Given the description of an element on the screen output the (x, y) to click on. 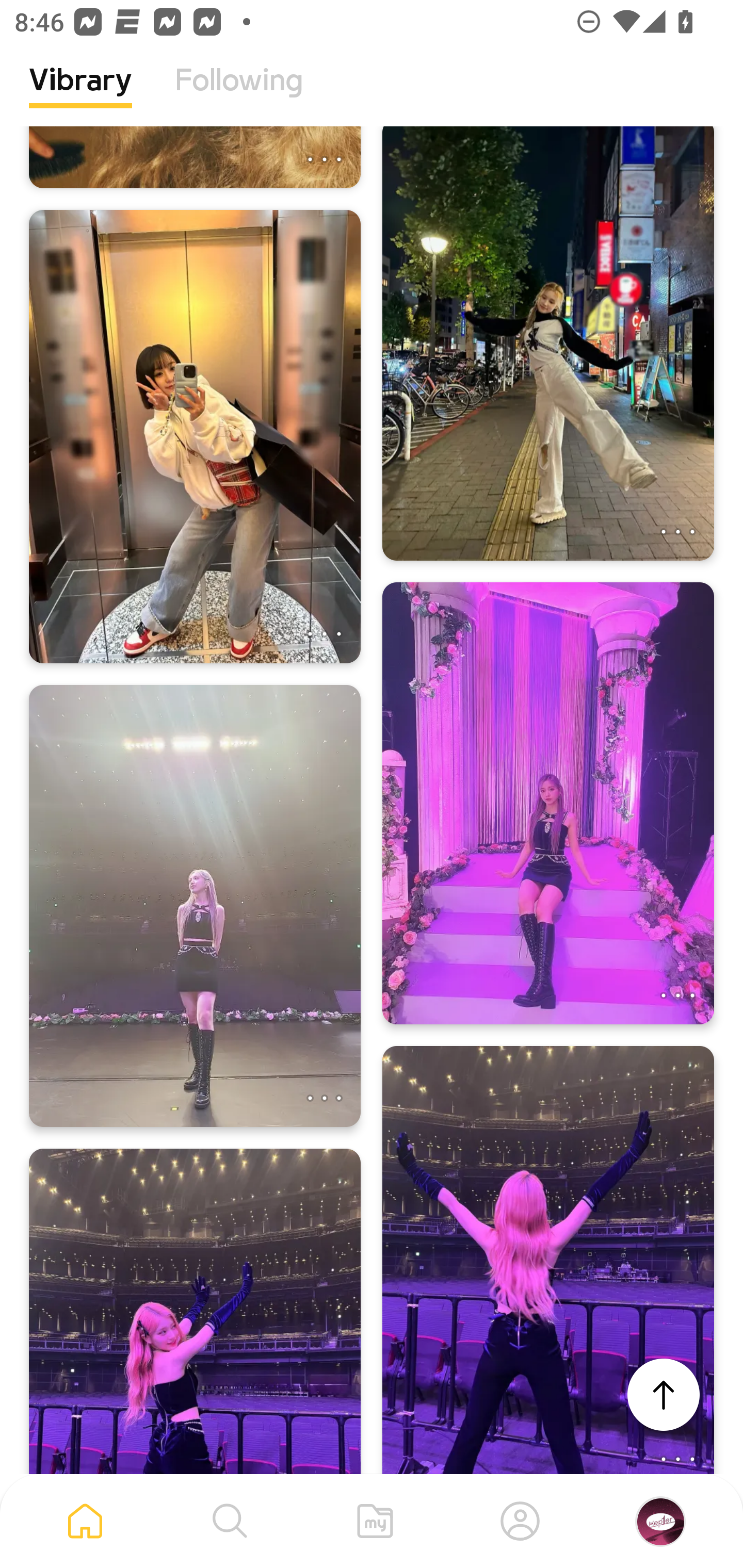
Vibrary (80, 95)
Following (239, 95)
